Given the description of an element on the screen output the (x, y) to click on. 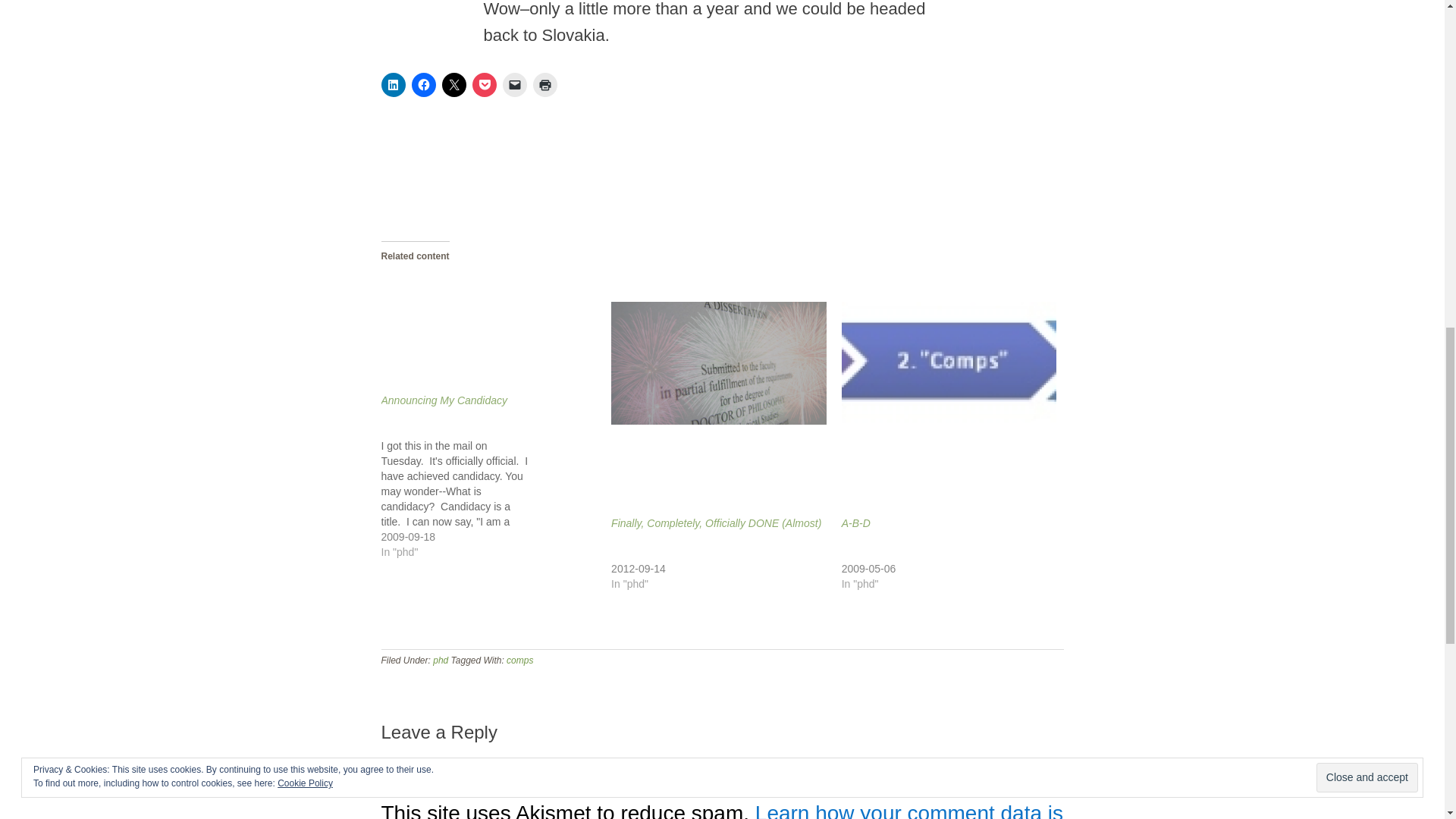
phd (440, 660)
Announcing My Candidacy (443, 399)
Click to print (544, 84)
Click to share on LinkedIn (392, 84)
comps (519, 660)
A-B-D (855, 522)
Click to share on X (453, 84)
Learn how your comment data is processed (721, 810)
Announcing My Candidacy (443, 399)
Click to email a link to a friend (513, 84)
Click to share on Facebook (422, 84)
Click to share on Pocket (483, 84)
